Given the description of an element on the screen output the (x, y) to click on. 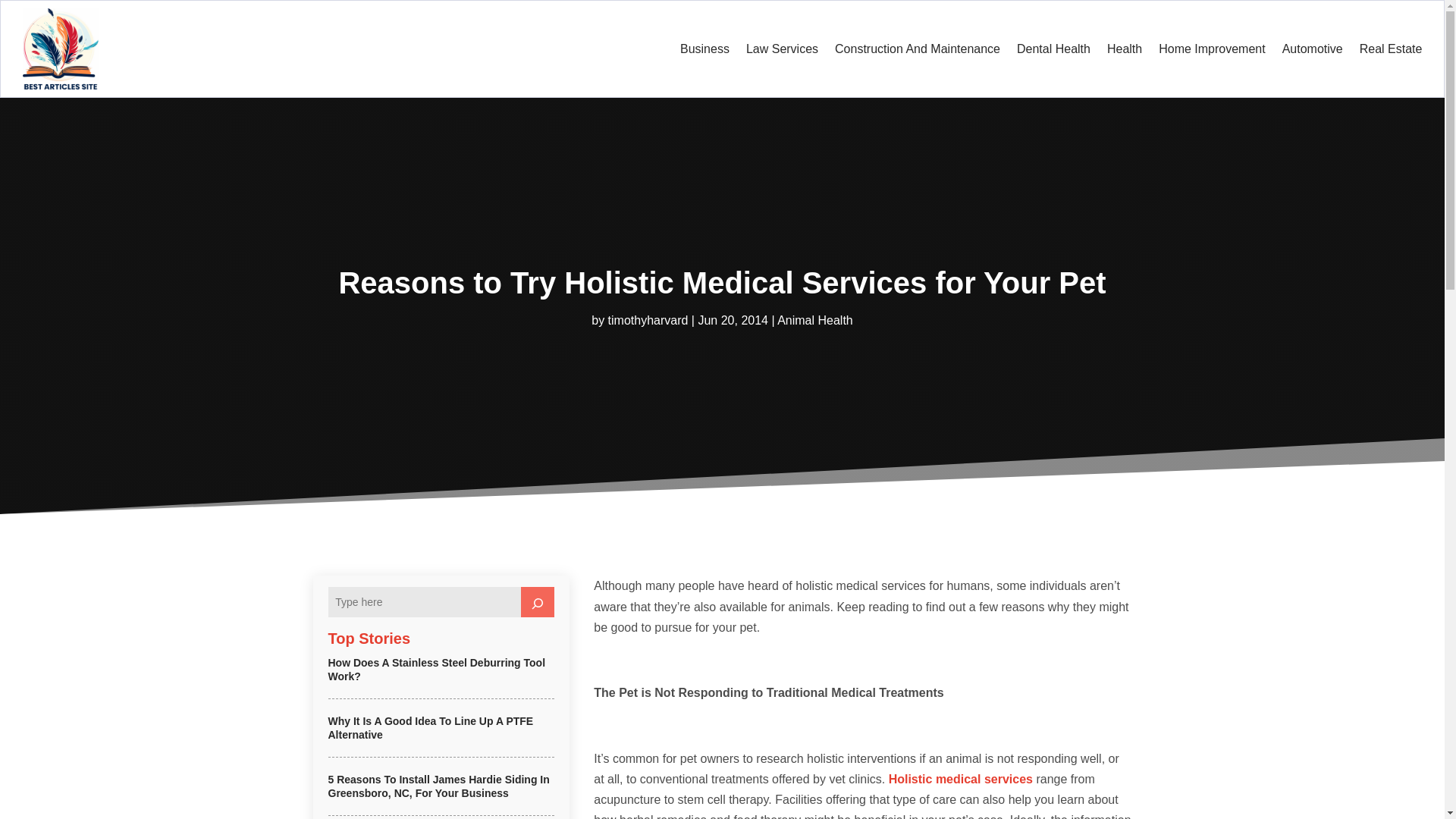
timothyharvard (648, 319)
Dental Health (1053, 48)
Automotive (1312, 48)
How Does A Stainless Steel Deburring Tool Work? (435, 669)
Animal Health (815, 319)
Real Estate (1390, 48)
Construction And Maintenance (917, 48)
Why It Is A Good Idea To Line Up A PTFE Alternative (429, 727)
Health (1123, 48)
Posts by timothyharvard (648, 319)
Law Services (781, 48)
Business (704, 48)
Holistic medical services (960, 779)
Home Improvement (1211, 48)
